Given the description of an element on the screen output the (x, y) to click on. 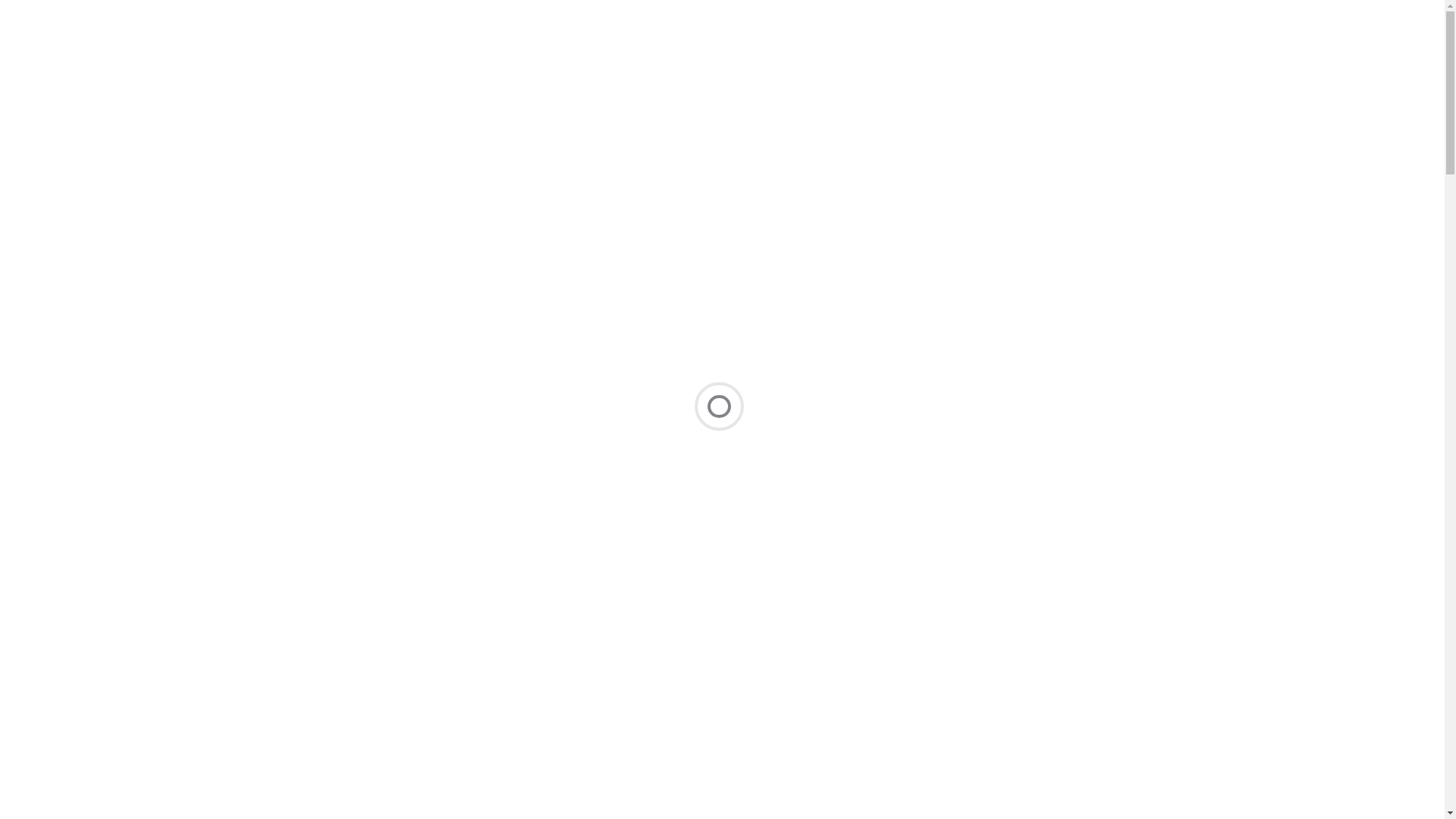
Anasayfa Element type: text (605, 48)
Haberler Element type: text (1061, 48)
Katalog Element type: text (779, 48)
Haberlere Git Element type: text (722, 234)
Daha Fazla Element type: text (1017, 234)
Daha Fazla Element type: text (426, 234)
